Given the description of an element on the screen output the (x, y) to click on. 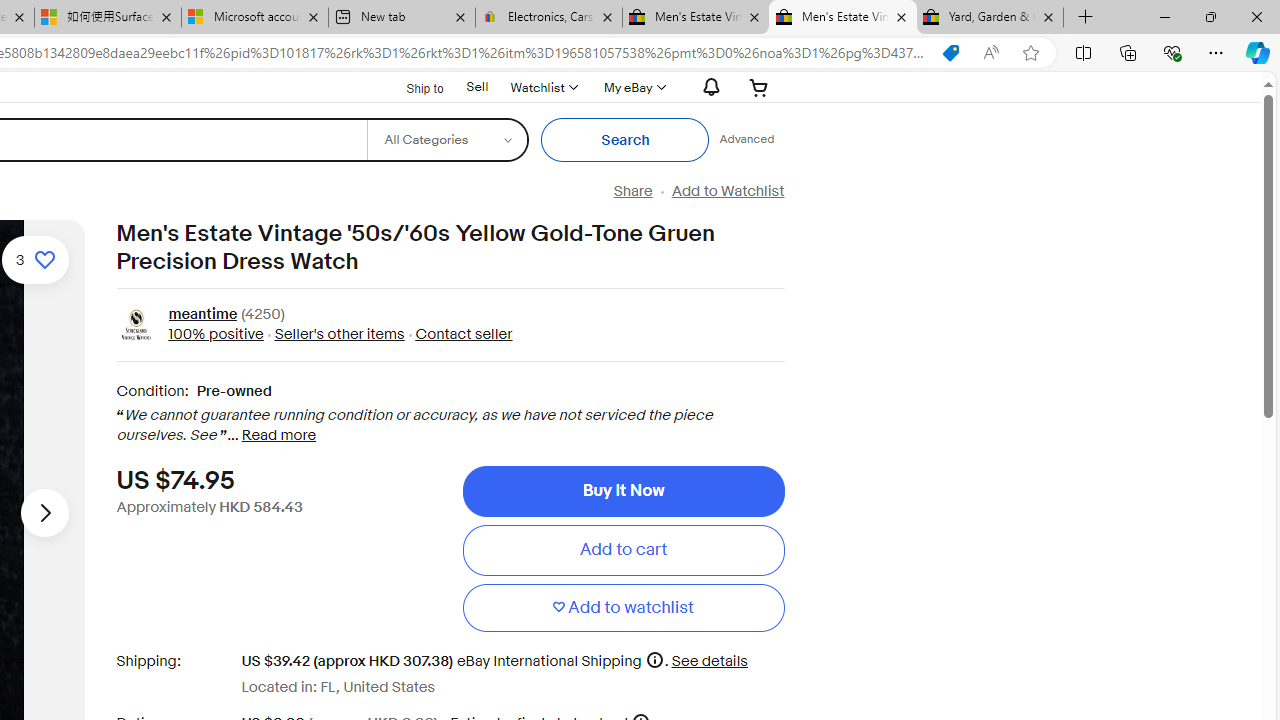
Sell (477, 86)
Electronics, Cars, Fashion, Collectibles & More | eBay (549, 17)
Advanced Search (746, 139)
My eBay (632, 87)
Class: ux-action (136, 325)
Next image - Item images thumbnails (44, 512)
Buy It Now (623, 490)
More information (654, 660)
